Given the description of an element on the screen output the (x, y) to click on. 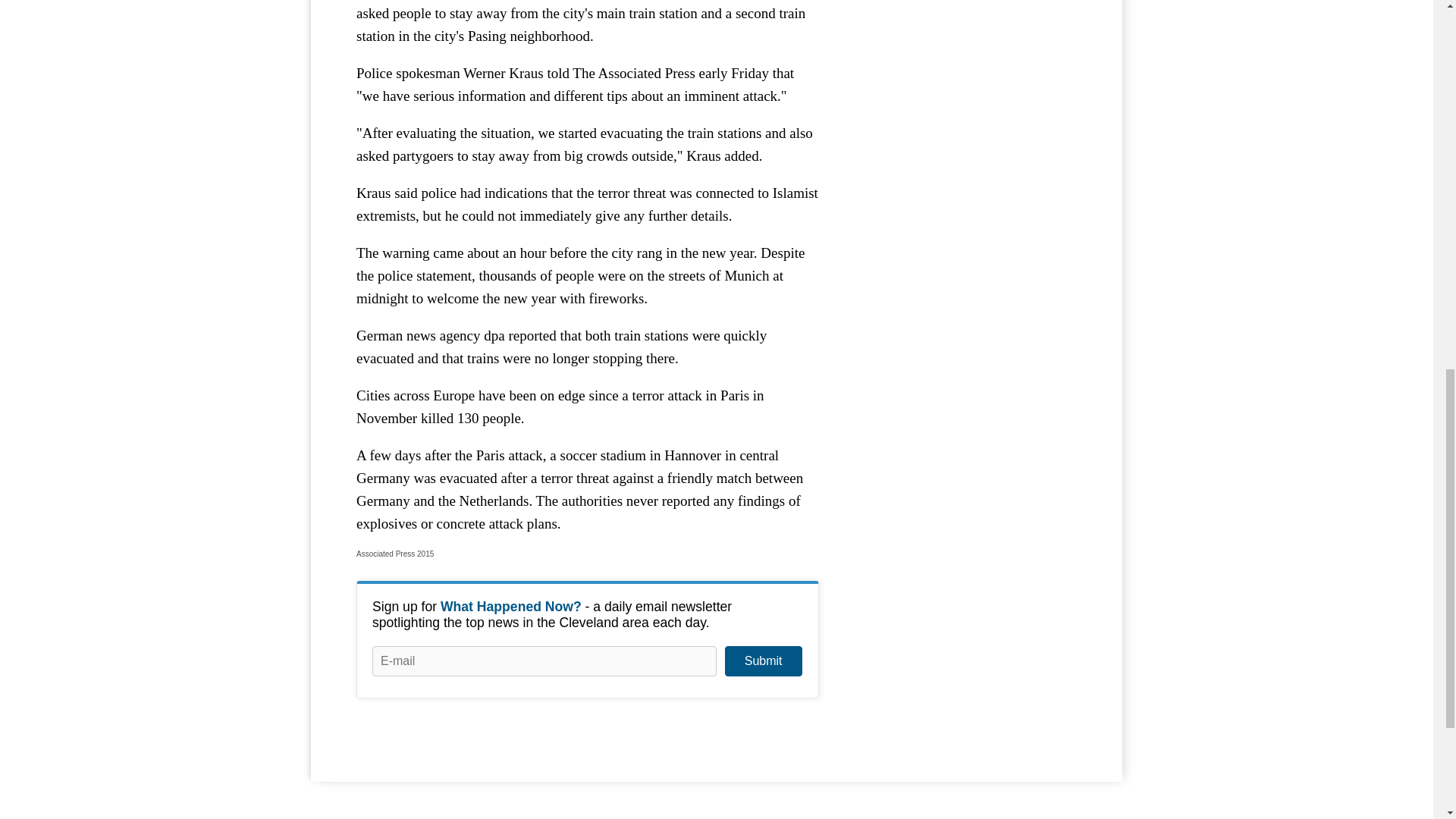
Submit (763, 661)
